Given the description of an element on the screen output the (x, y) to click on. 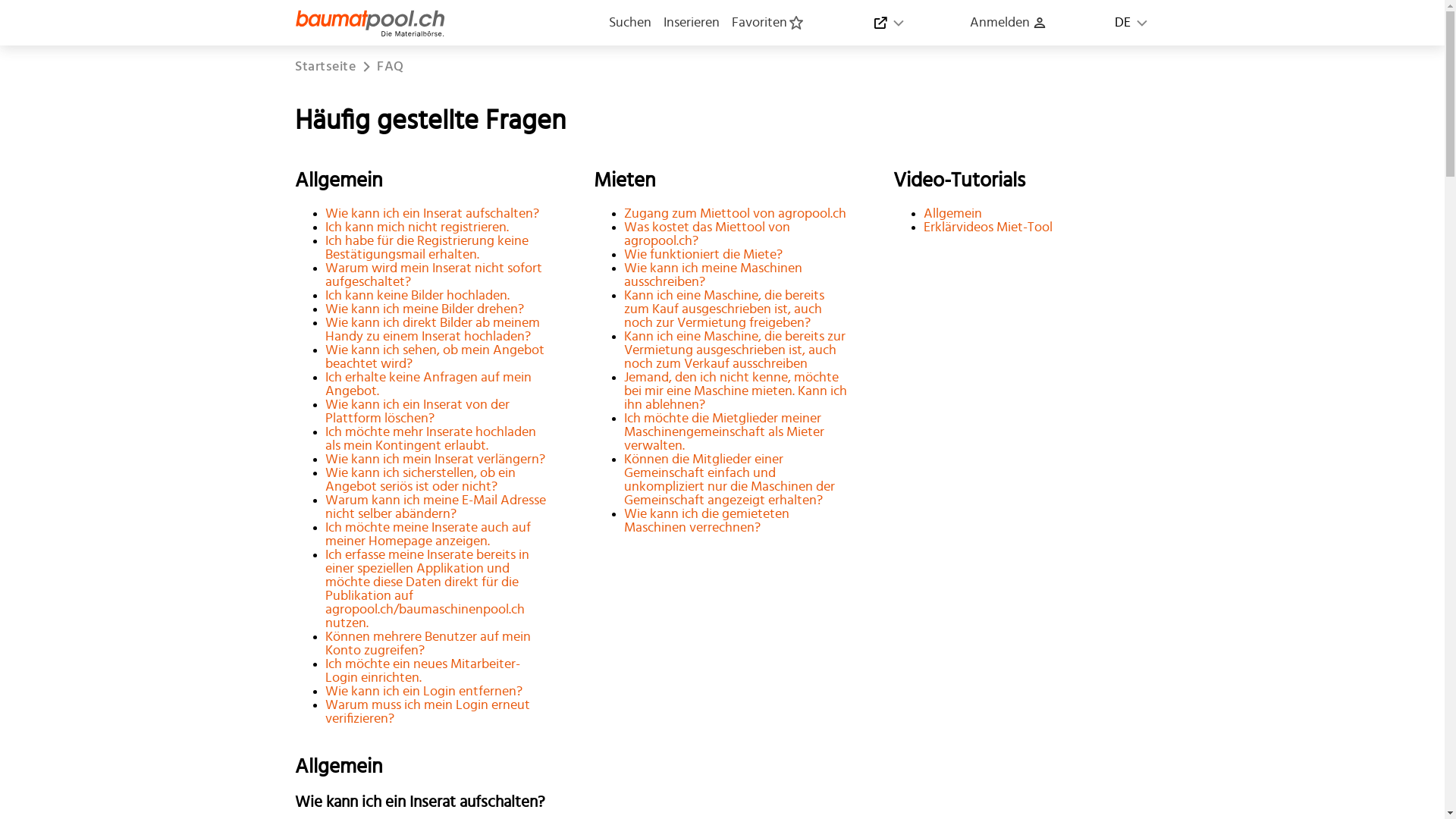
Wie kann ich die gemieteten Maschinen verrechnen? Element type: text (706, 520)
Suchen Element type: text (629, 22)
Wie funktioniert die Miete? Element type: text (703, 254)
Wie kann ich ein Login entfernen? Element type: text (423, 691)
Anmelden Element type: text (1007, 22)
Ich erhalte keine Anfragen auf mein Angebot. Element type: text (428, 384)
Favoriten Element type: text (768, 22)
Was kostet das Miettool von agropool.ch? Element type: text (707, 233)
Zugang zum Miettool von agropool.ch Element type: text (735, 213)
Wie kann ich sehen, ob mein Angebot beachtet wird? Element type: text (434, 356)
Wie kann ich meine Bilder drehen? Element type: text (424, 309)
Ich kann keine Bilder hochladen. Element type: text (417, 295)
Ich kann mich nicht registrieren. Element type: text (416, 227)
FAQ Element type: text (390, 66)
Wie kann ich meine Maschinen ausschreiben? Element type: text (713, 274)
Startseite Element type: text (324, 66)
Allgemein Element type: text (952, 213)
Wie kann ich ein Inserat aufschalten? Element type: text (432, 213)
Warum muss ich mein Login erneut verifizieren? Element type: text (427, 711)
Warum wird mein Inserat nicht sofort aufgeschaltet? Element type: text (433, 274)
Inserieren Element type: text (691, 22)
